Given the description of an element on the screen output the (x, y) to click on. 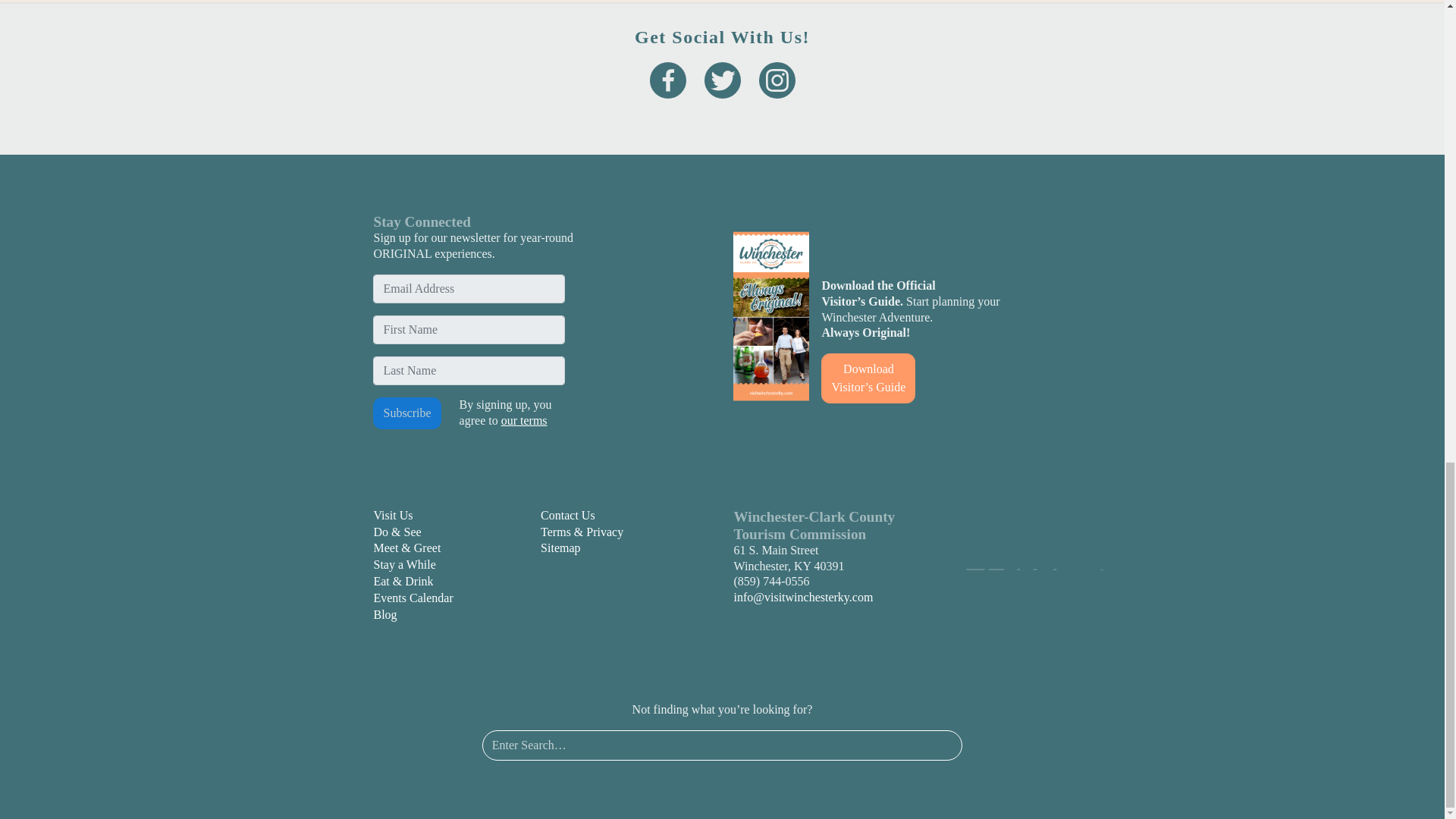
Visit Us (392, 514)
Contact Us (567, 514)
Events Calendar (412, 597)
our terms (523, 420)
Subscribe (406, 413)
Blog (384, 614)
Sitemap (559, 547)
Subscribe (406, 413)
Search (936, 745)
Stay a While (403, 563)
